Given the description of an element on the screen output the (x, y) to click on. 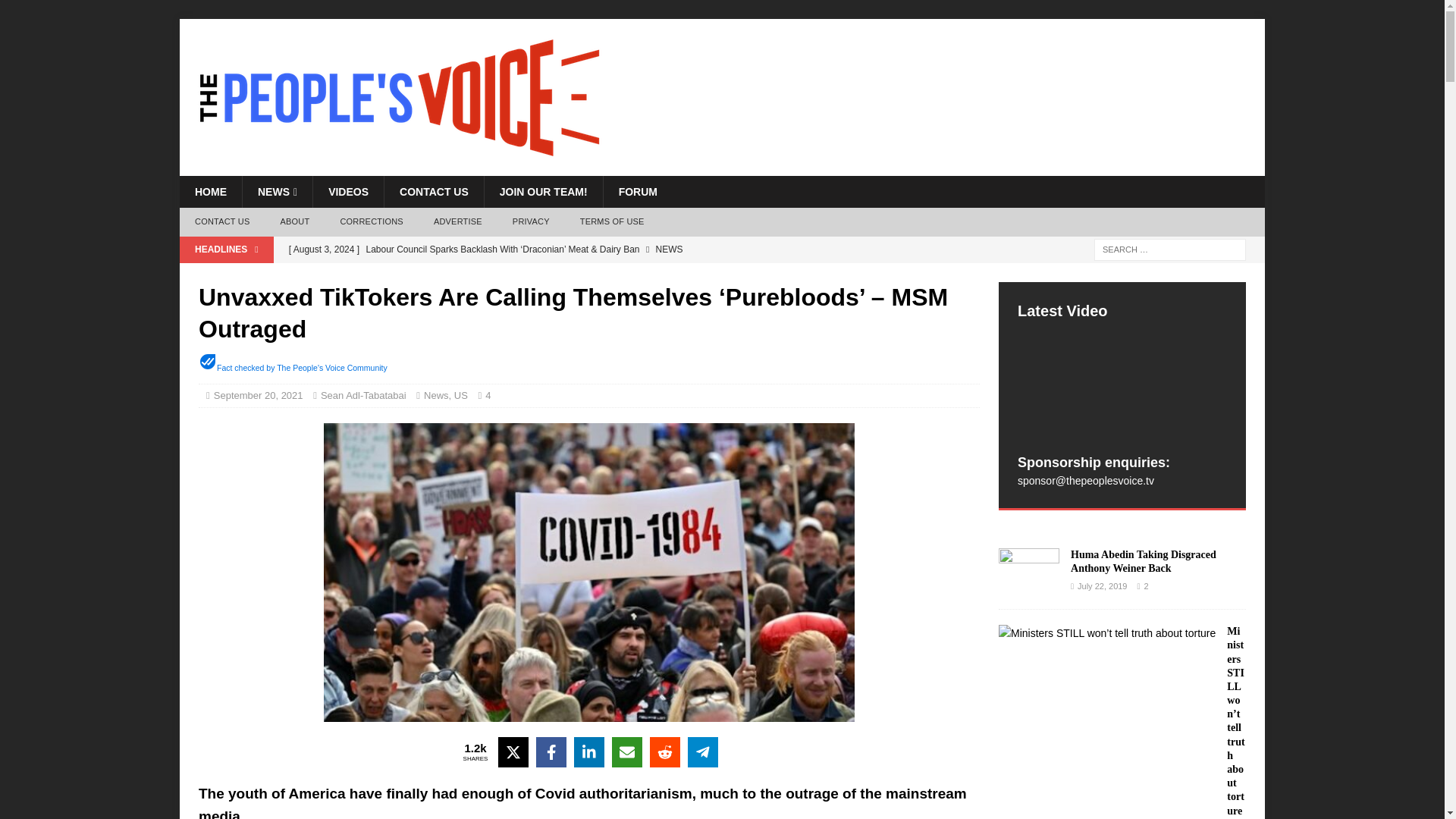
VIDEOS (348, 192)
FORUM (637, 192)
CORRECTIONS (370, 222)
CONTACT US (221, 222)
ADVERTISE (458, 222)
NEWS (277, 192)
TERMS OF USE (611, 222)
CONTACT US (433, 192)
HOME (210, 192)
PRIVACY (530, 222)
JOIN OUR TEAM! (542, 192)
ABOUT (294, 222)
